Given the description of an element on the screen output the (x, y) to click on. 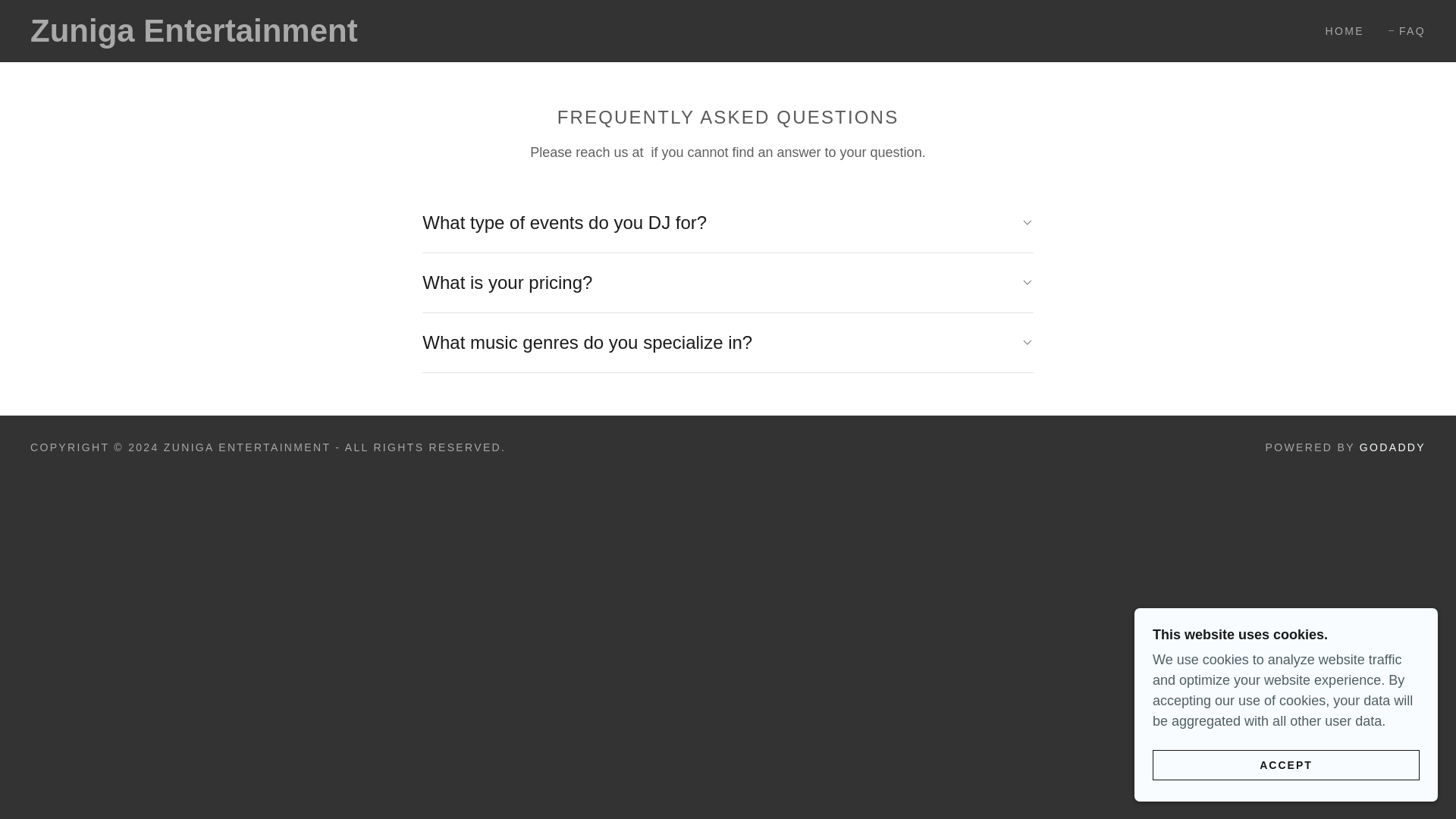
Zuniga Entertainment (227, 37)
What type of events do you DJ for? (727, 222)
What is your pricing? (727, 282)
What music genres do you specialize in? (727, 342)
ACCEPT (1286, 764)
GODADDY (1392, 447)
FAQ (1407, 31)
Zuniga Entertainment (227, 37)
HOME (1339, 31)
